Given the description of an element on the screen output the (x, y) to click on. 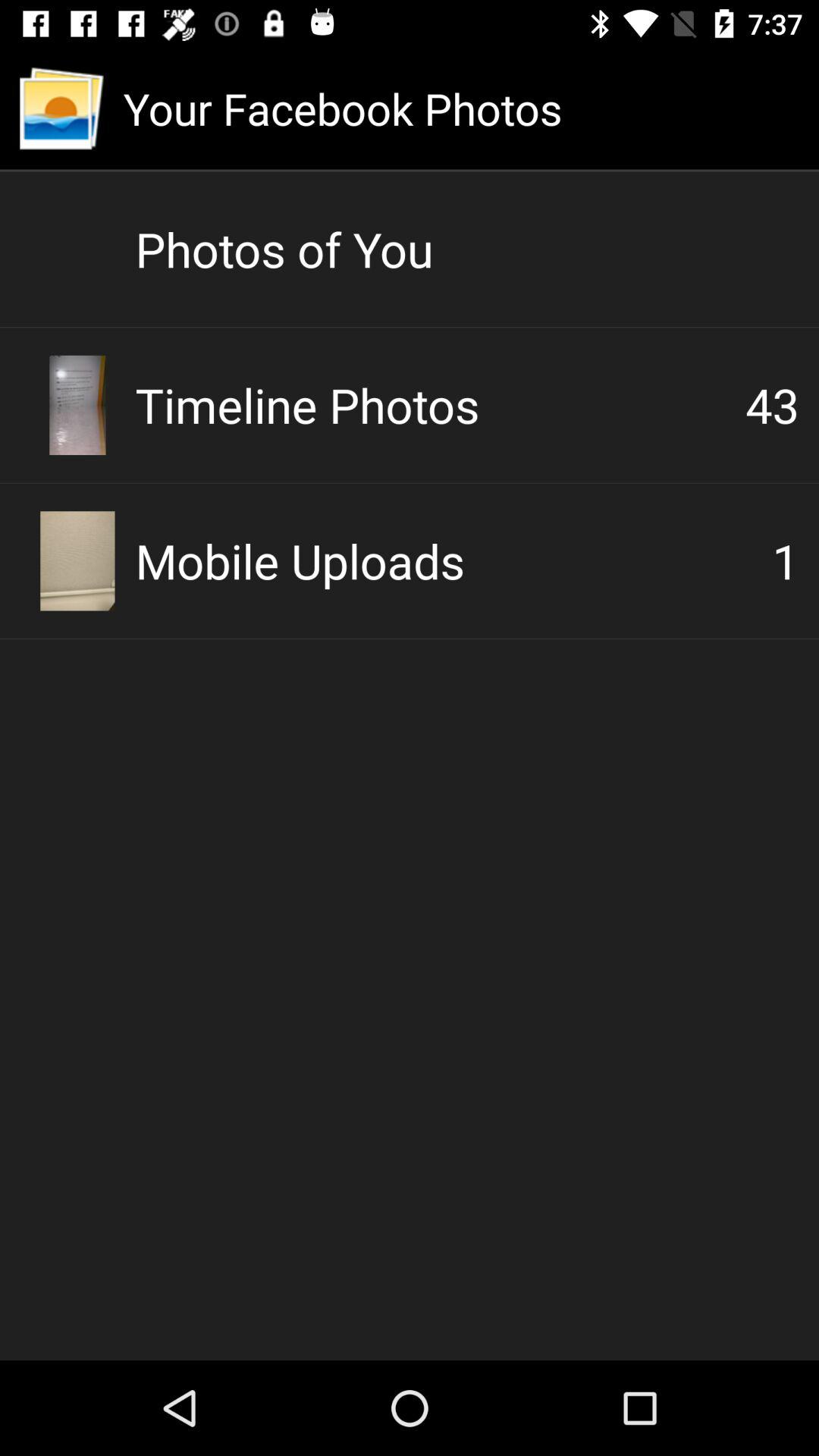
turn off photos of you (467, 248)
